Given the description of an element on the screen output the (x, y) to click on. 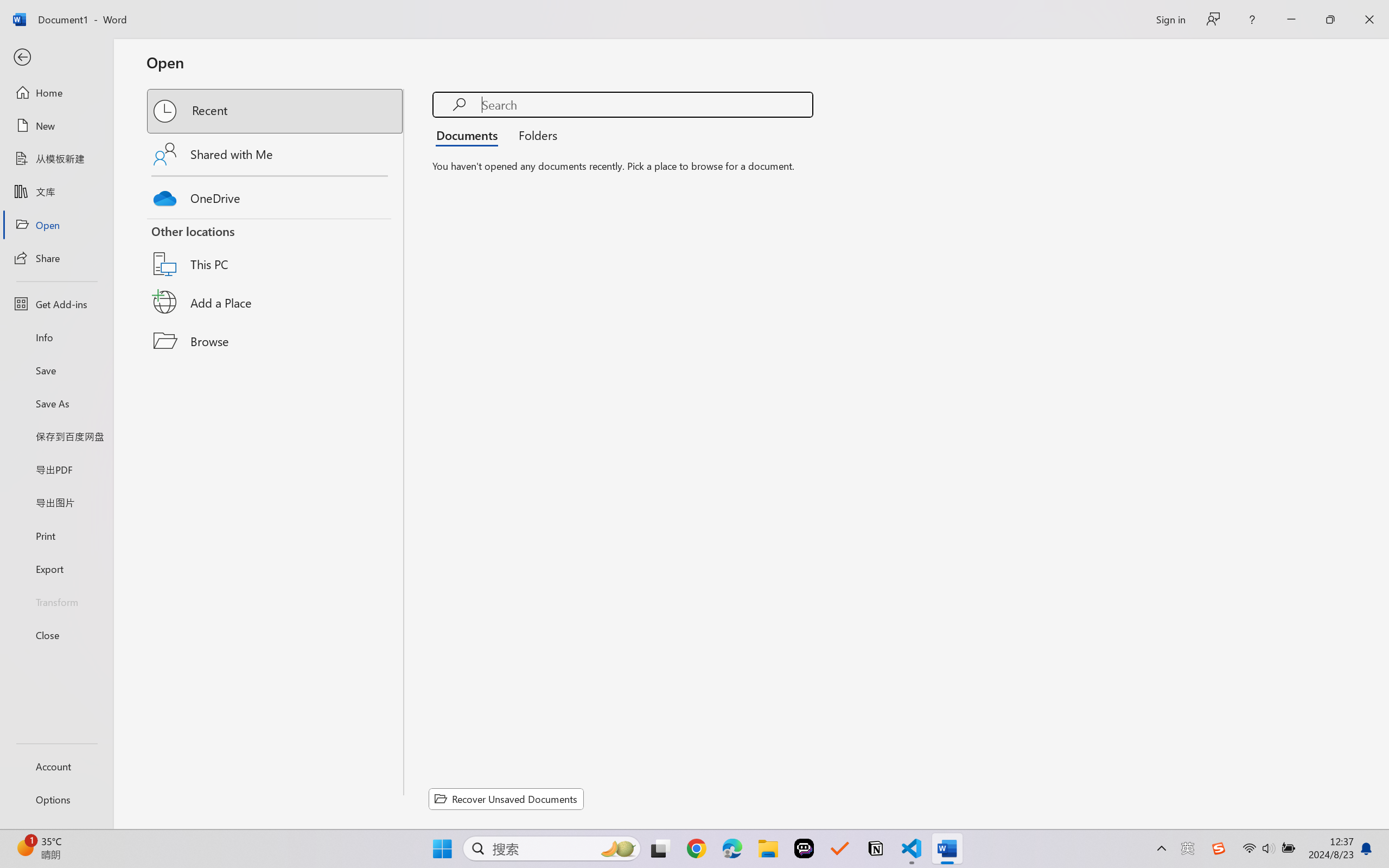
Folders (534, 134)
New (56, 125)
Export (56, 568)
Print (56, 535)
Get Add-ins (56, 303)
This PC (275, 249)
Account (56, 765)
